Given the description of an element on the screen output the (x, y) to click on. 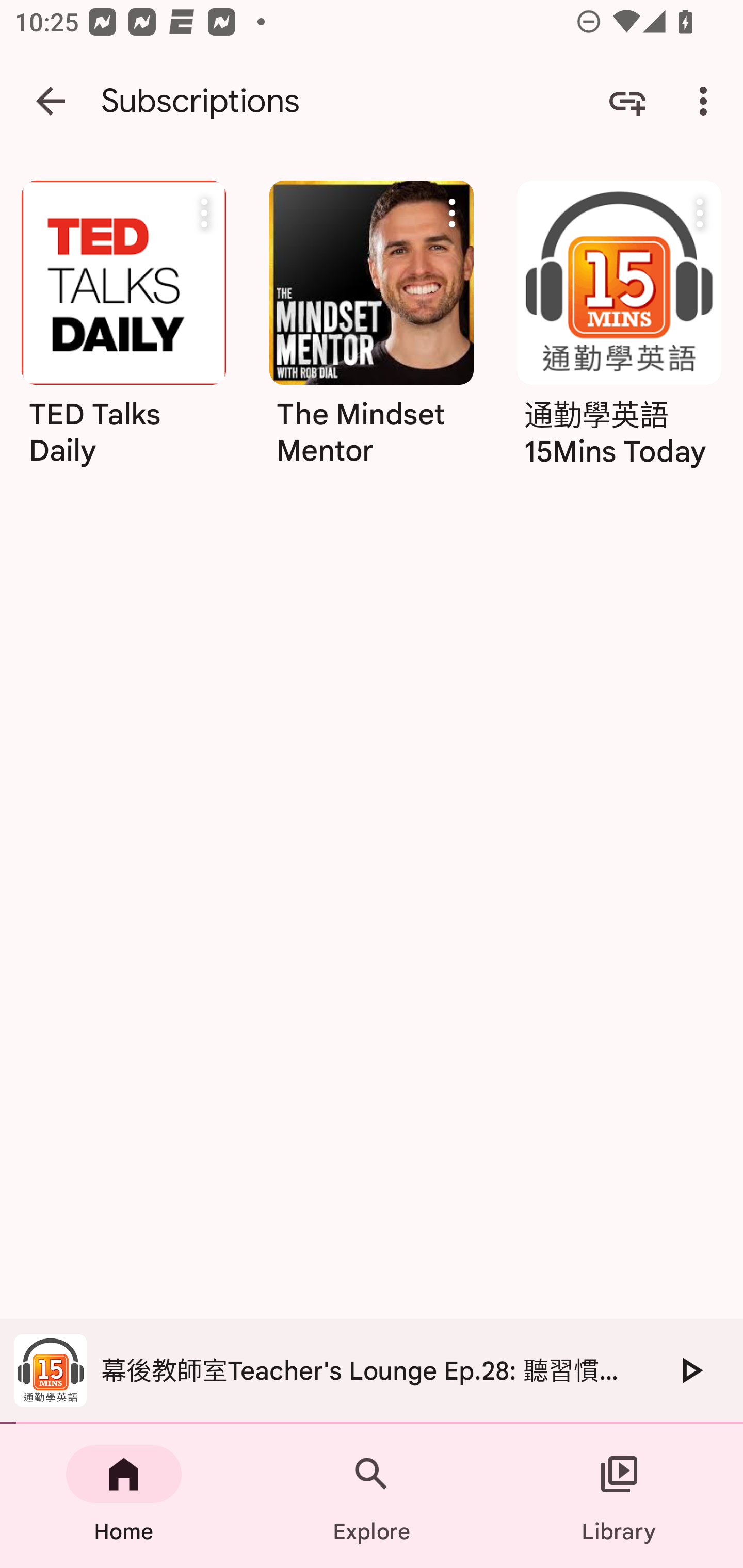
Navigate up (50, 101)
Add by RSS feed (626, 101)
More options (706, 101)
TED Talks Daily More actions TED Talks Daily (123, 330)
The Mindset Mentor More actions The Mindset Mentor (371, 330)
通勤學英語 15Mins Today More actions 通勤學英語 15Mins Today (619, 330)
More actions (203, 213)
More actions (452, 213)
More actions (699, 213)
Play (690, 1370)
Explore (371, 1495)
Library (619, 1495)
